Given the description of an element on the screen output the (x, y) to click on. 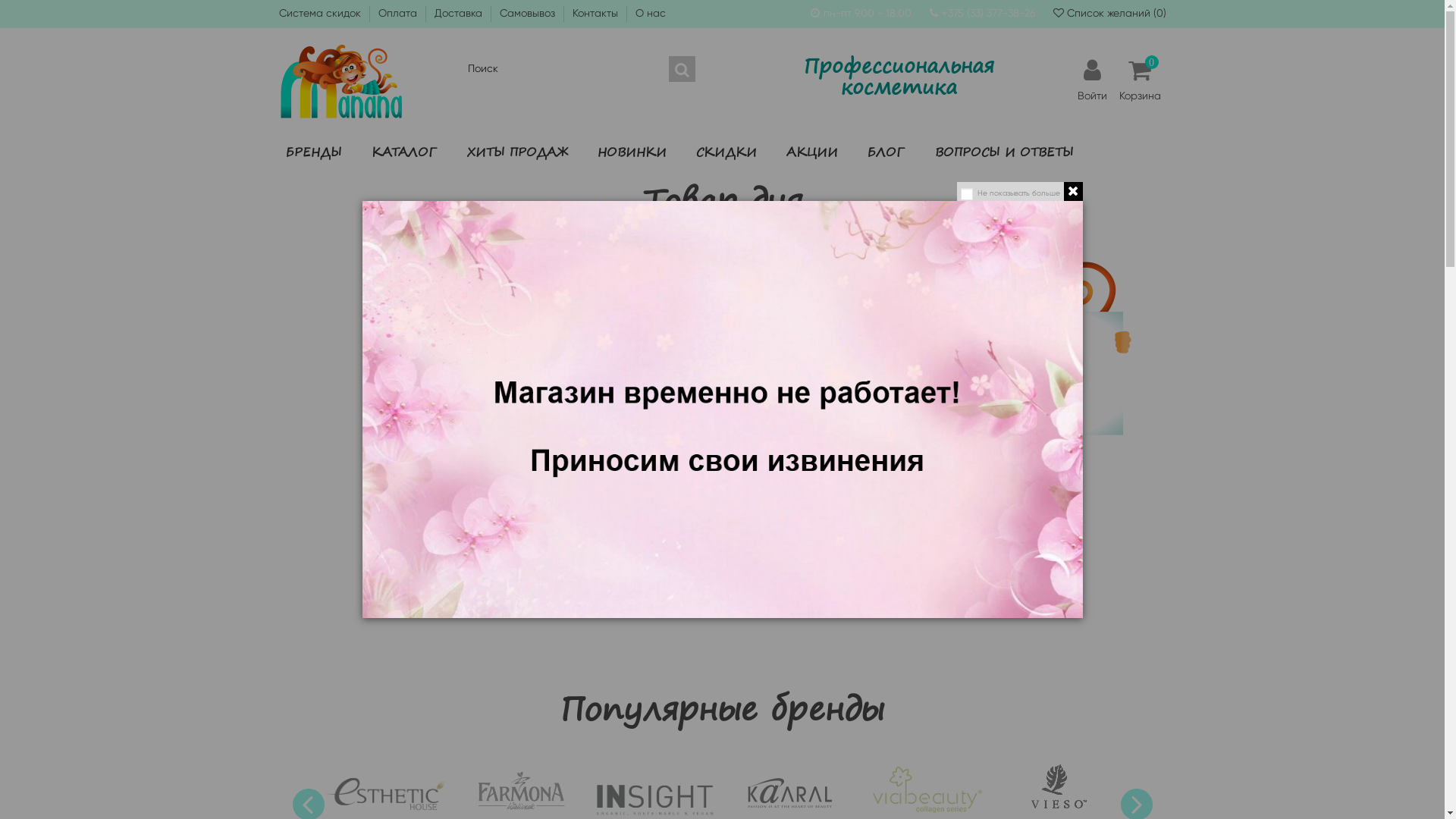
Close window Element type: hover (1072, 191)
+375 (33) 377-38-26 Element type: text (988, 12)
